Given the description of an element on the screen output the (x, y) to click on. 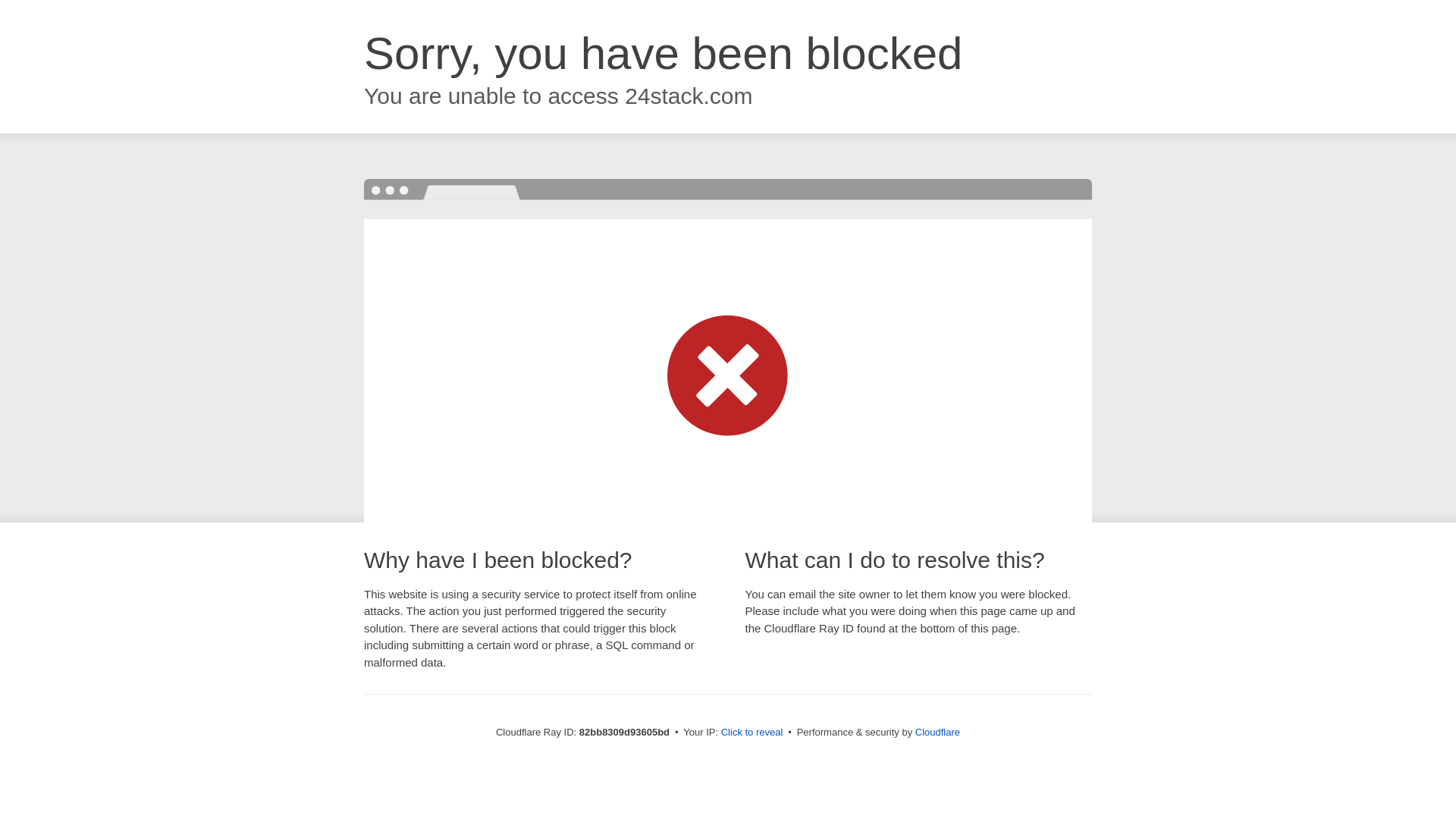
Cloudflare Element type: text (937, 731)
Click to reveal Element type: text (752, 732)
